Given the description of an element on the screen output the (x, y) to click on. 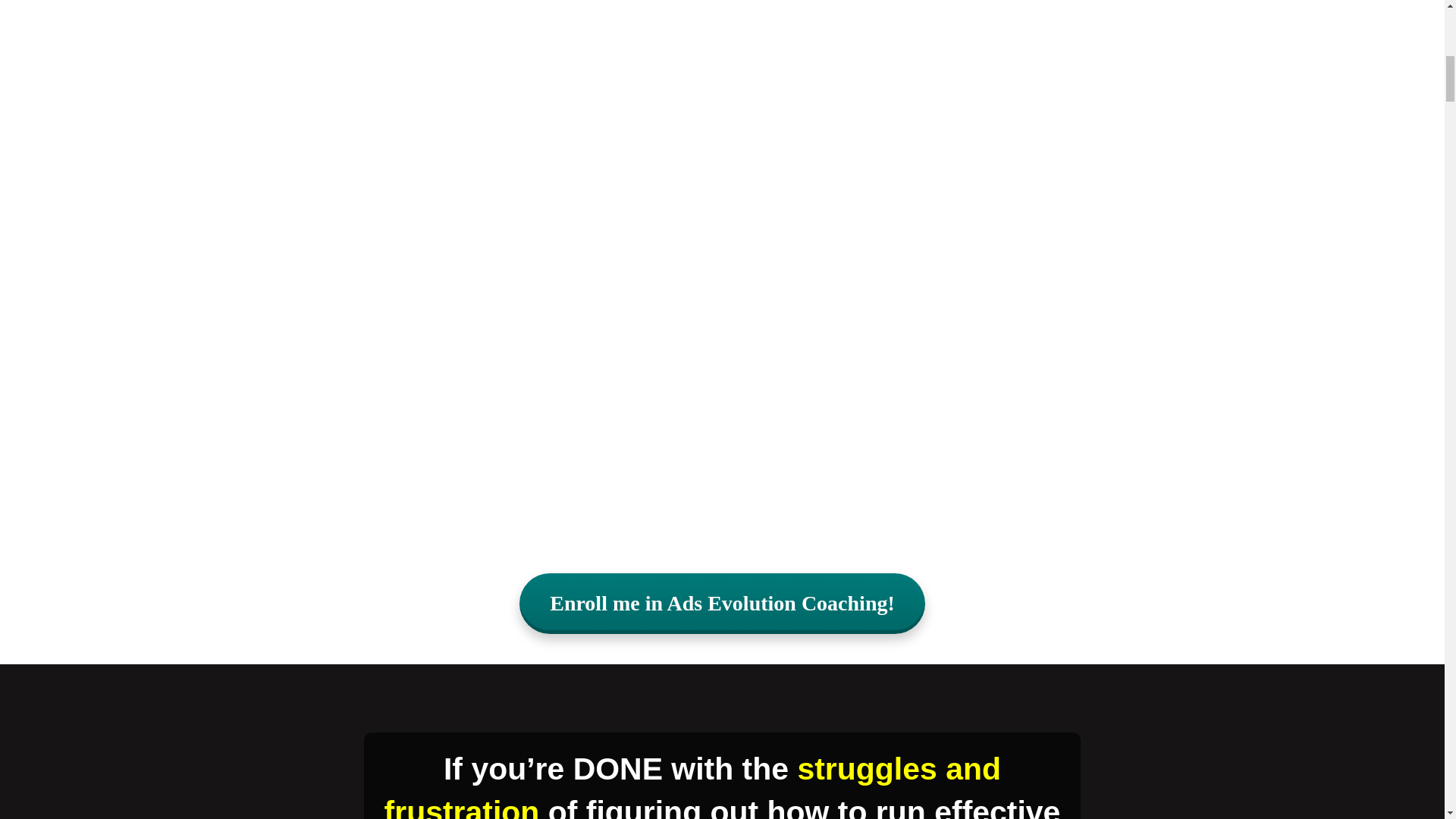
Enroll me in Ads Evolution Coaching! (721, 603)
